Given the description of an element on the screen output the (x, y) to click on. 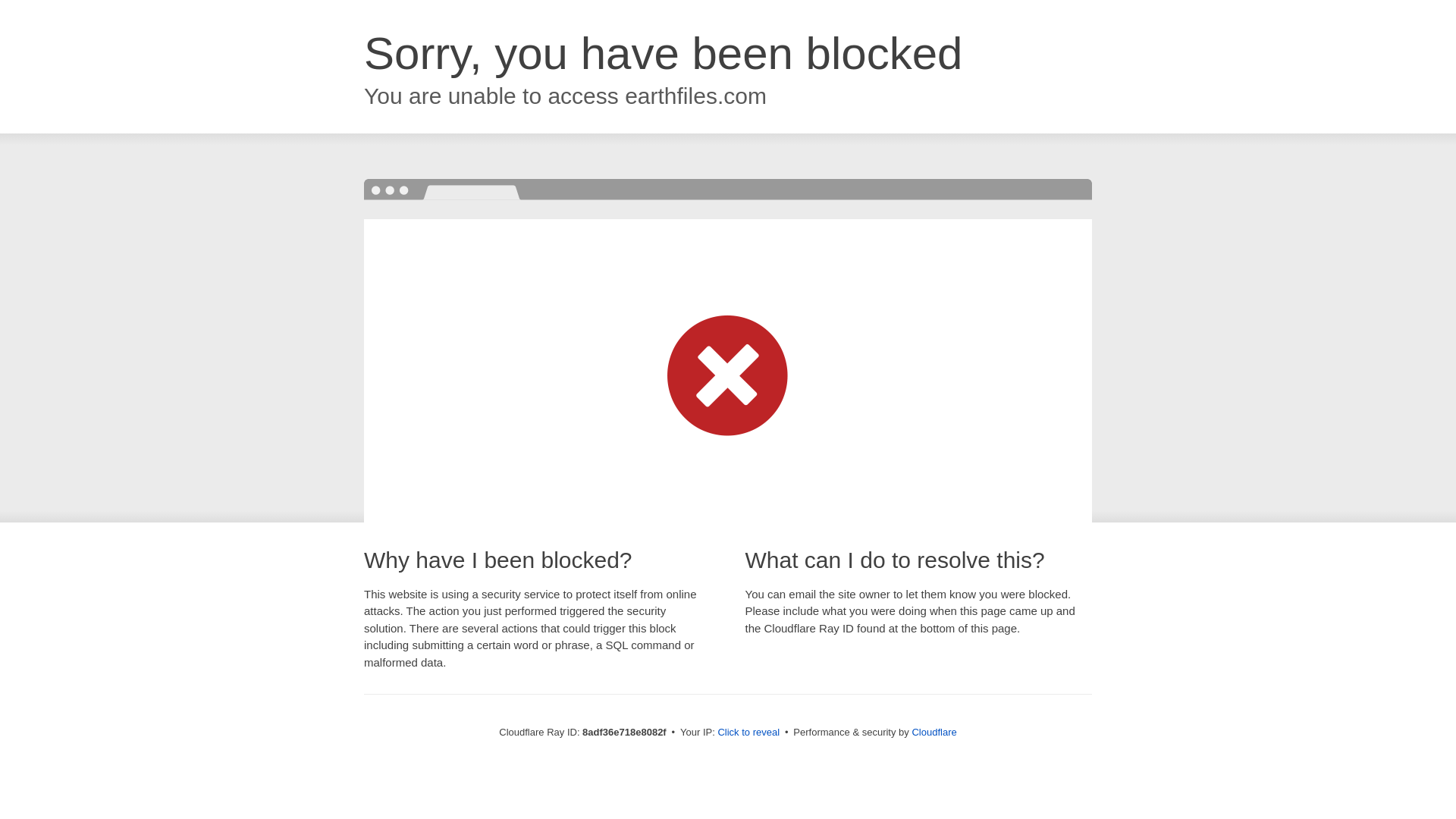
Cloudflare (933, 731)
Click to reveal (747, 732)
